Given the description of an element on the screen output the (x, y) to click on. 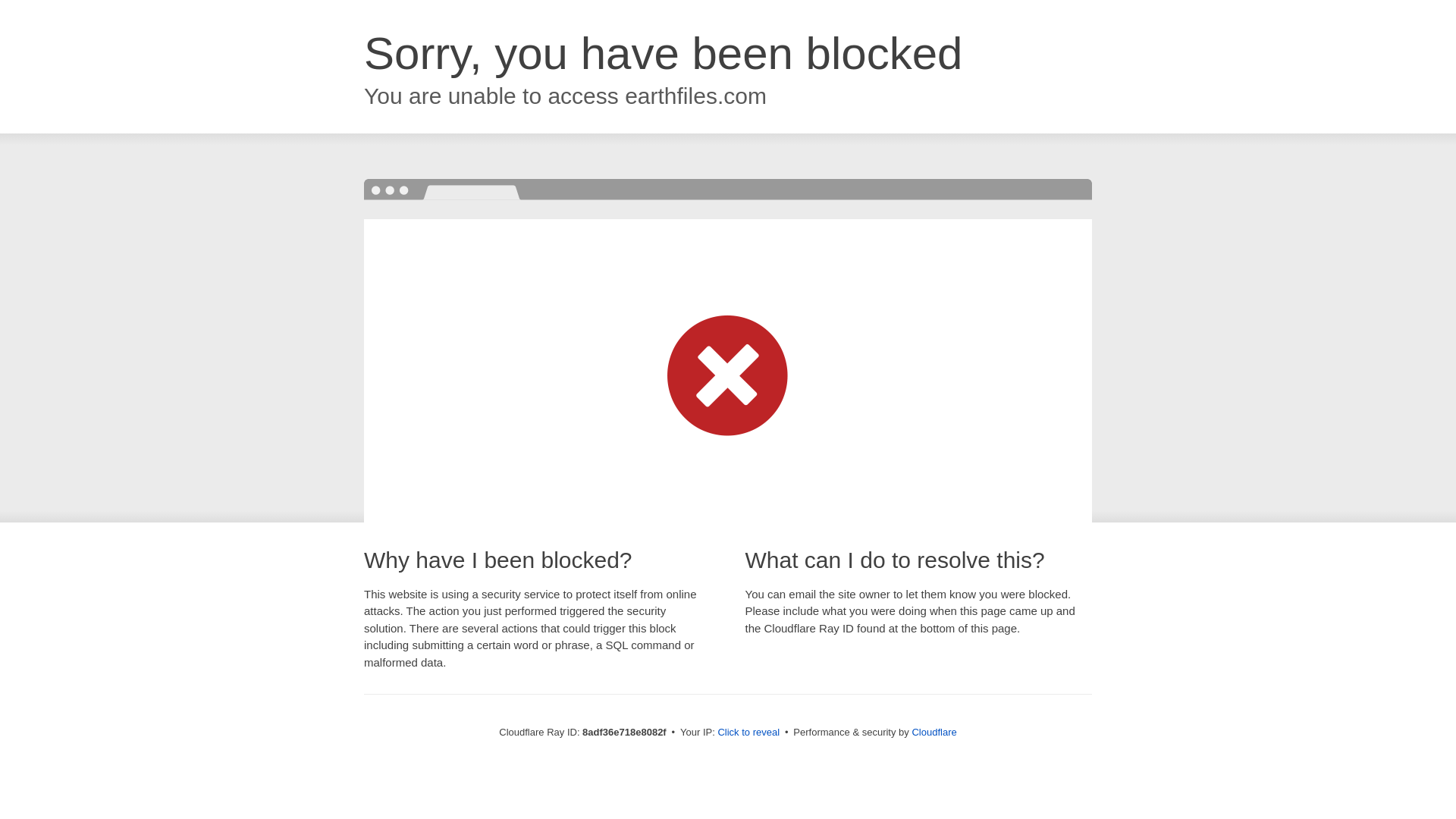
Cloudflare (933, 731)
Click to reveal (747, 732)
